Given the description of an element on the screen output the (x, y) to click on. 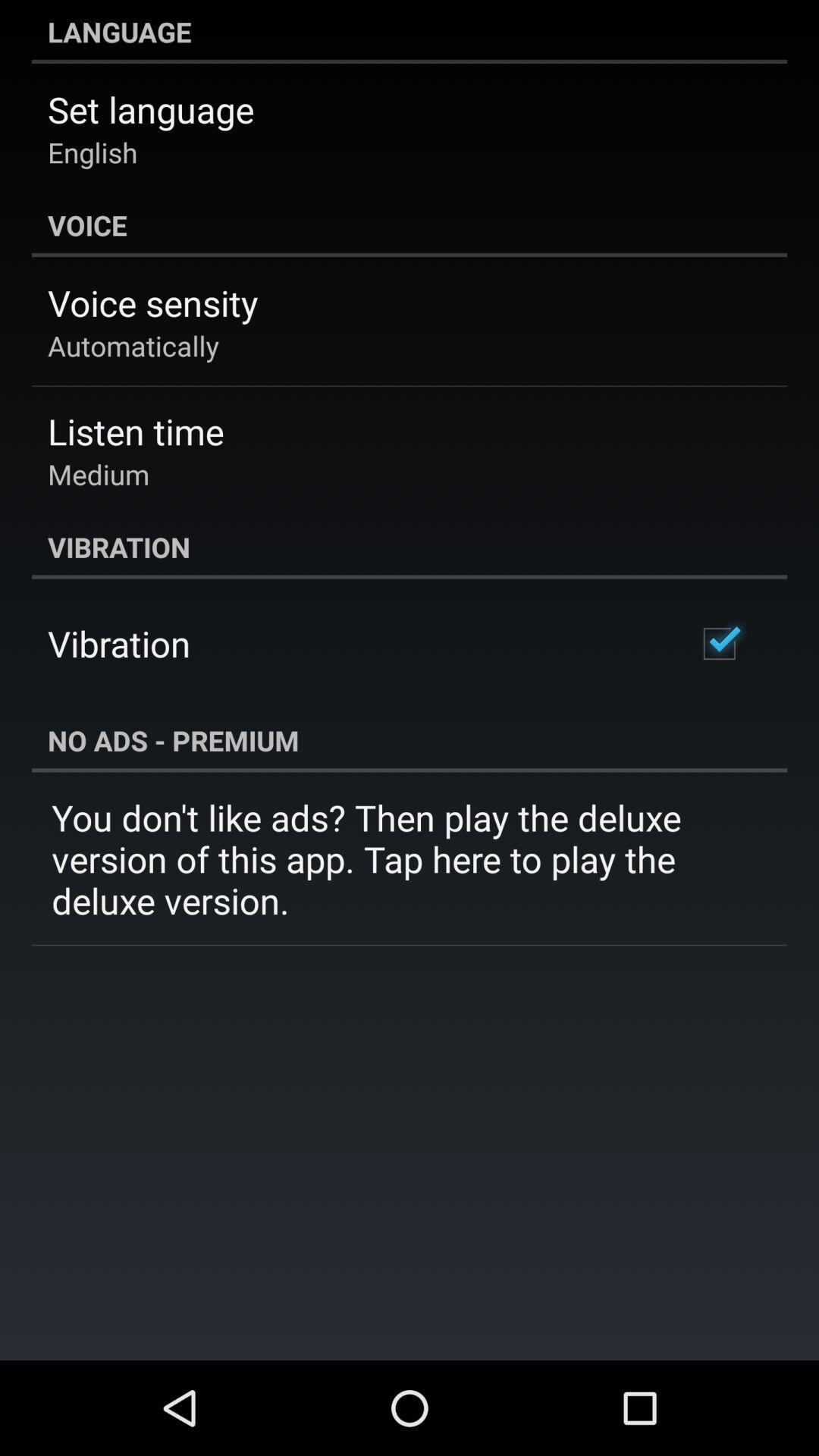
flip until the no ads - premium (409, 740)
